Given the description of an element on the screen output the (x, y) to click on. 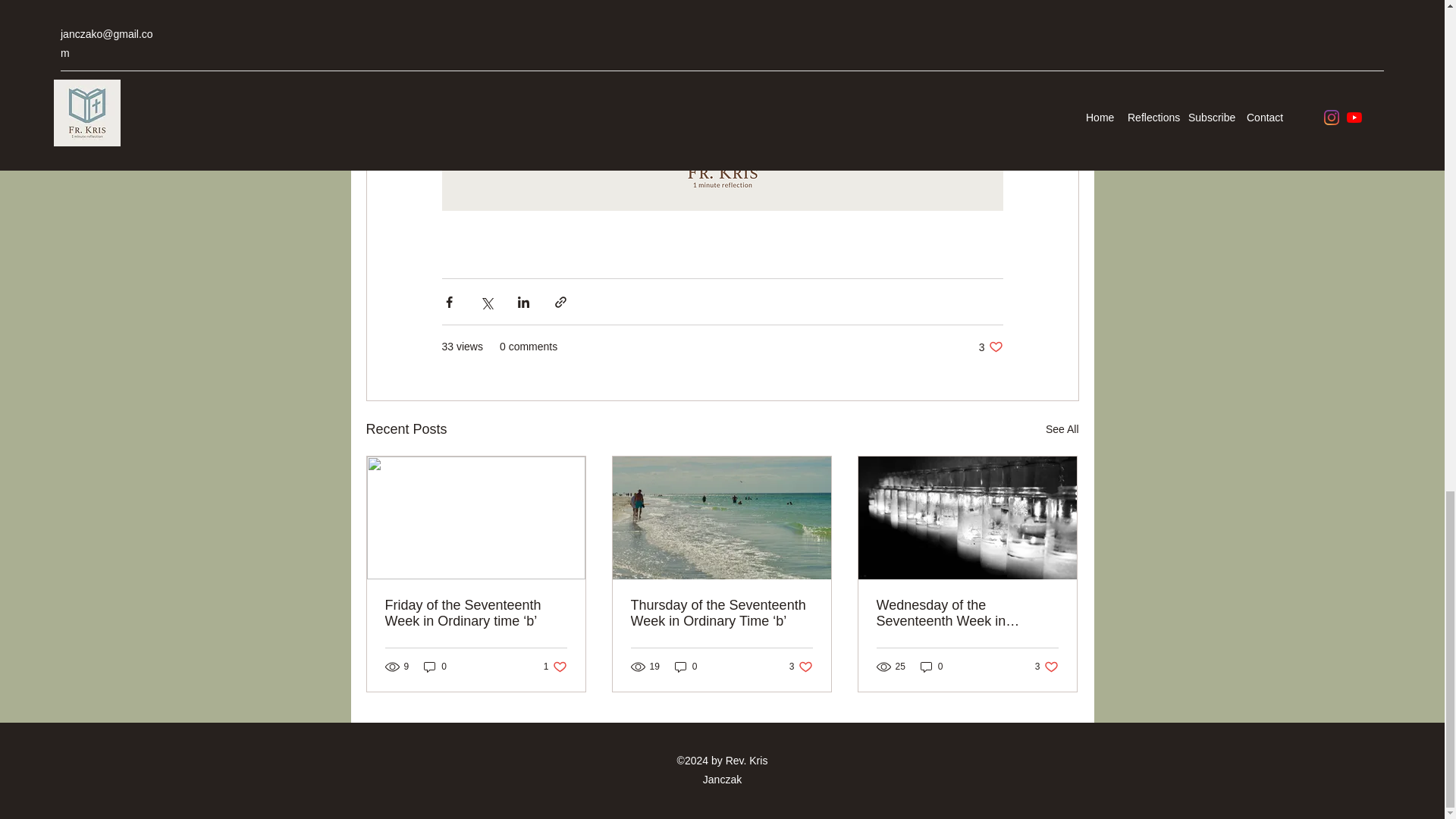
0 (555, 667)
0 (800, 667)
See All (685, 667)
0 (435, 667)
